Given the description of an element on the screen output the (x, y) to click on. 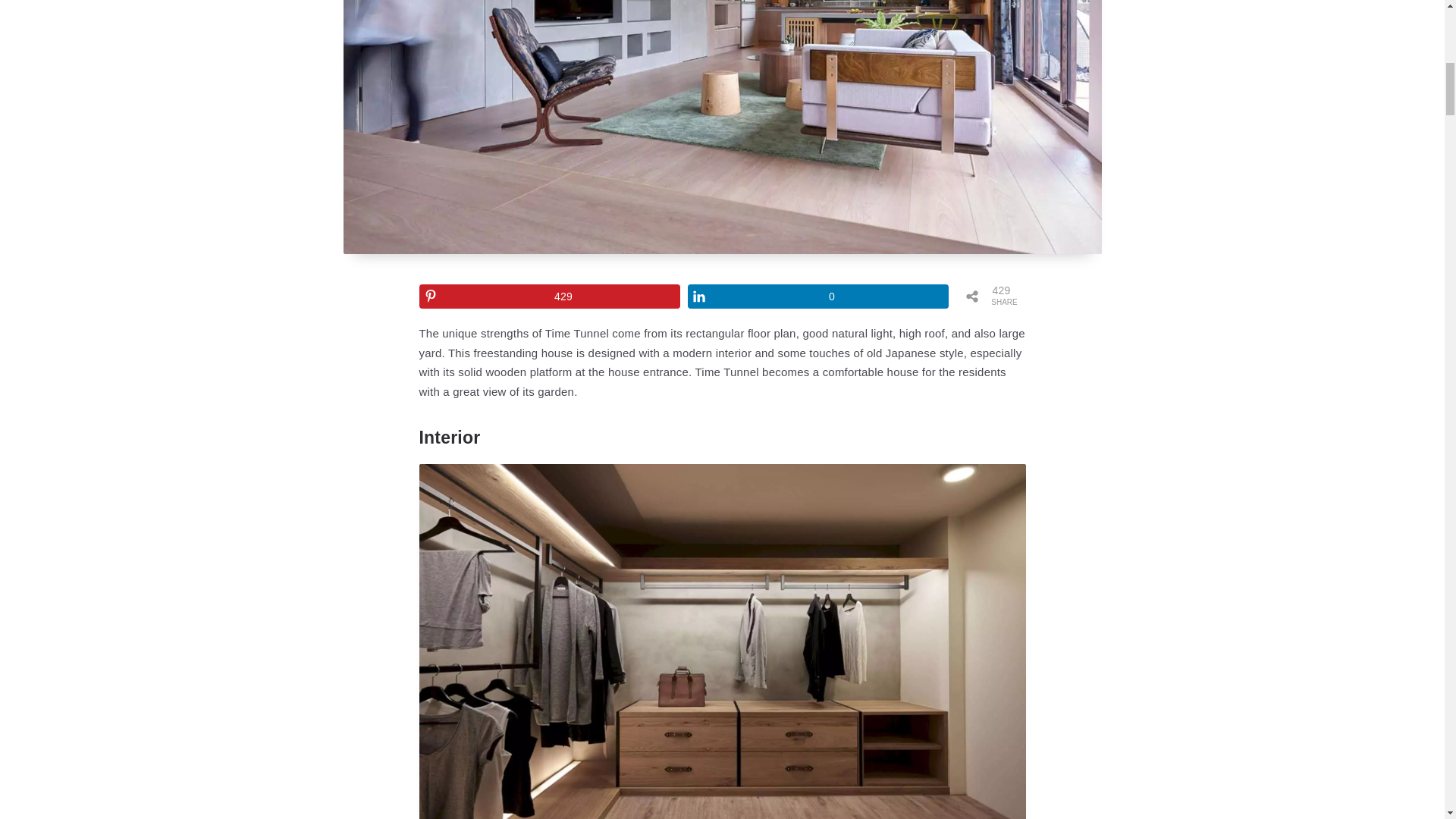
Share on LinkedIn (817, 296)
Share on Pinterest (549, 296)
